Given the description of an element on the screen output the (x, y) to click on. 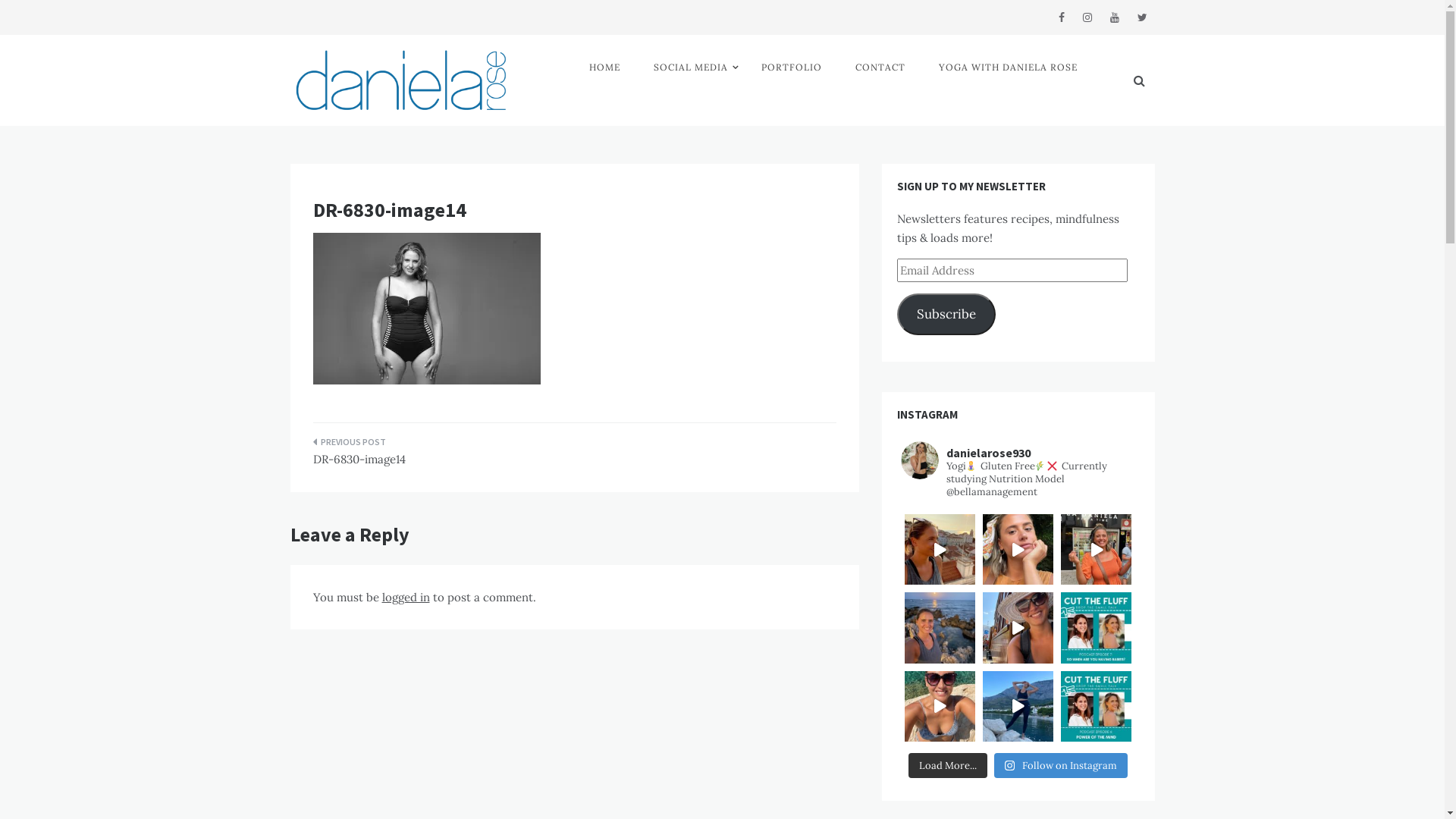
HOME Element type: text (604, 67)
Follow on Instagram Element type: text (1060, 765)
logged in Element type: text (405, 596)
CONTACT Element type: text (880, 67)
Subscribe Element type: text (945, 313)
DR-6830-image14 Element type: text (437, 455)
PORTFOLIO Element type: text (791, 67)
Load More... Element type: text (947, 765)
SOCIAL MEDIA Element type: text (690, 67)
YOGA WITH DANIELA ROSE Element type: text (1007, 67)
